Given the description of an element on the screen output the (x, y) to click on. 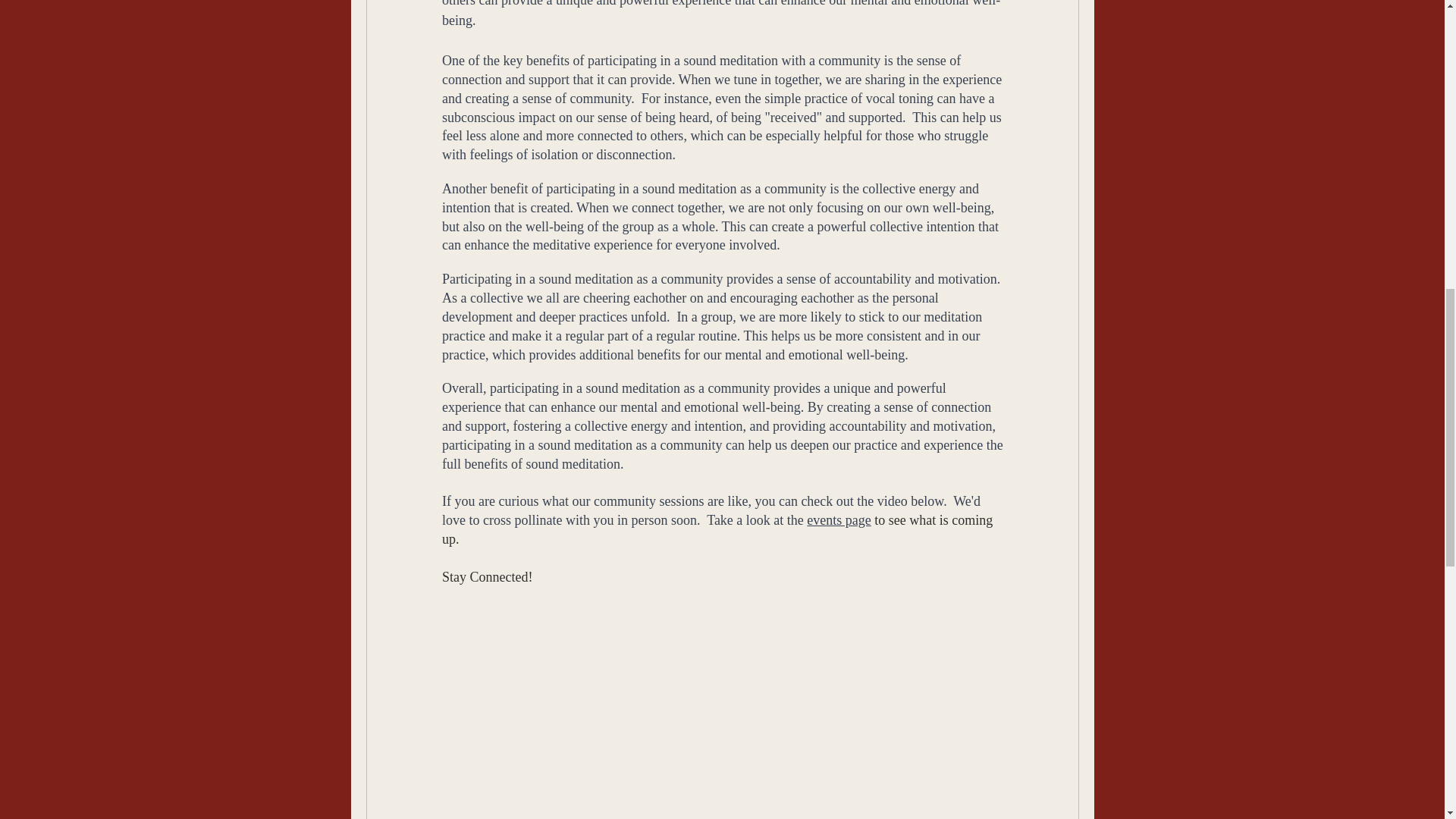
events page (838, 519)
